Given the description of an element on the screen output the (x, y) to click on. 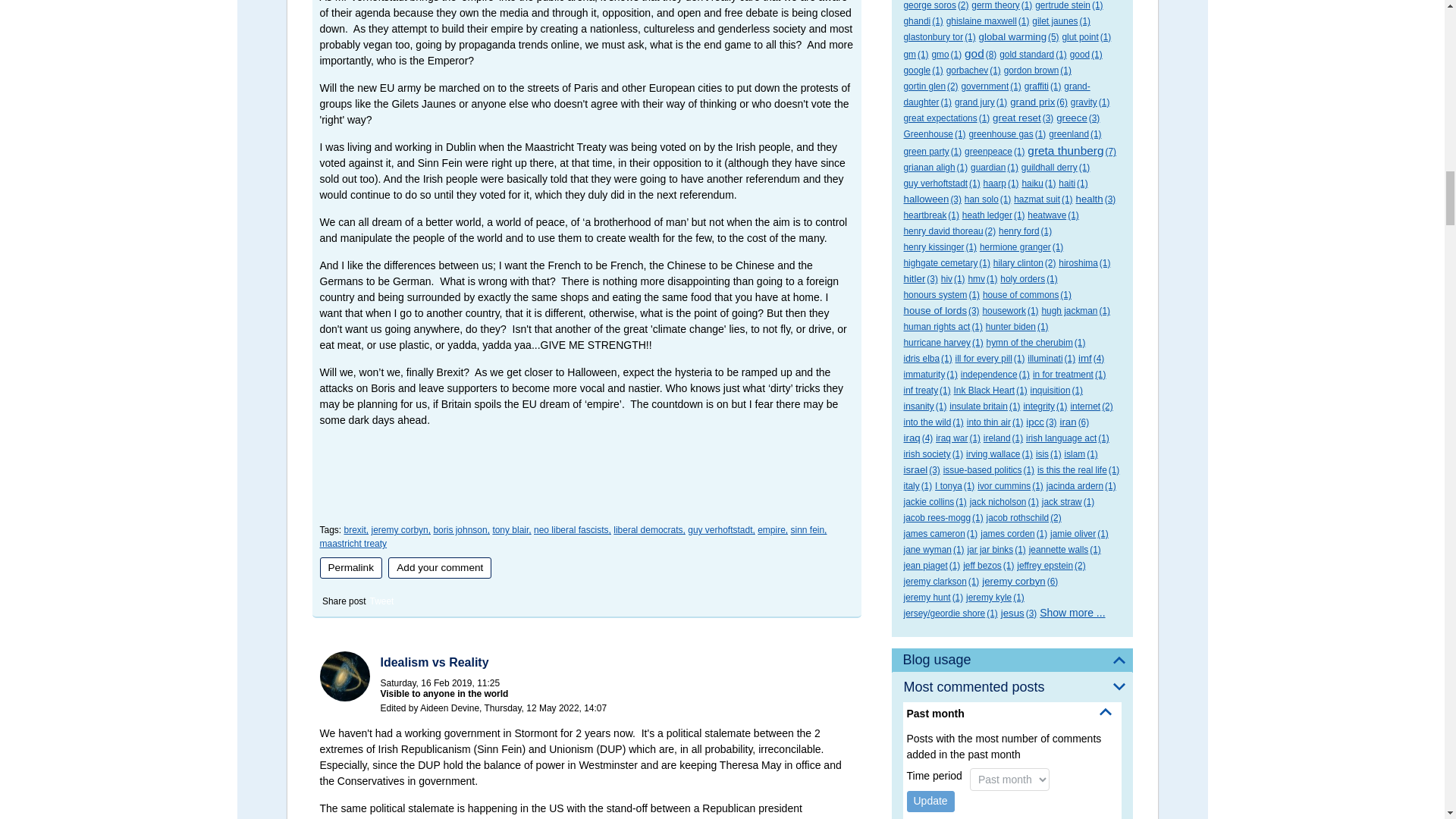
Blog usage (1011, 660)
Update (931, 801)
Hide options (1105, 711)
